Given the description of an element on the screen output the (x, y) to click on. 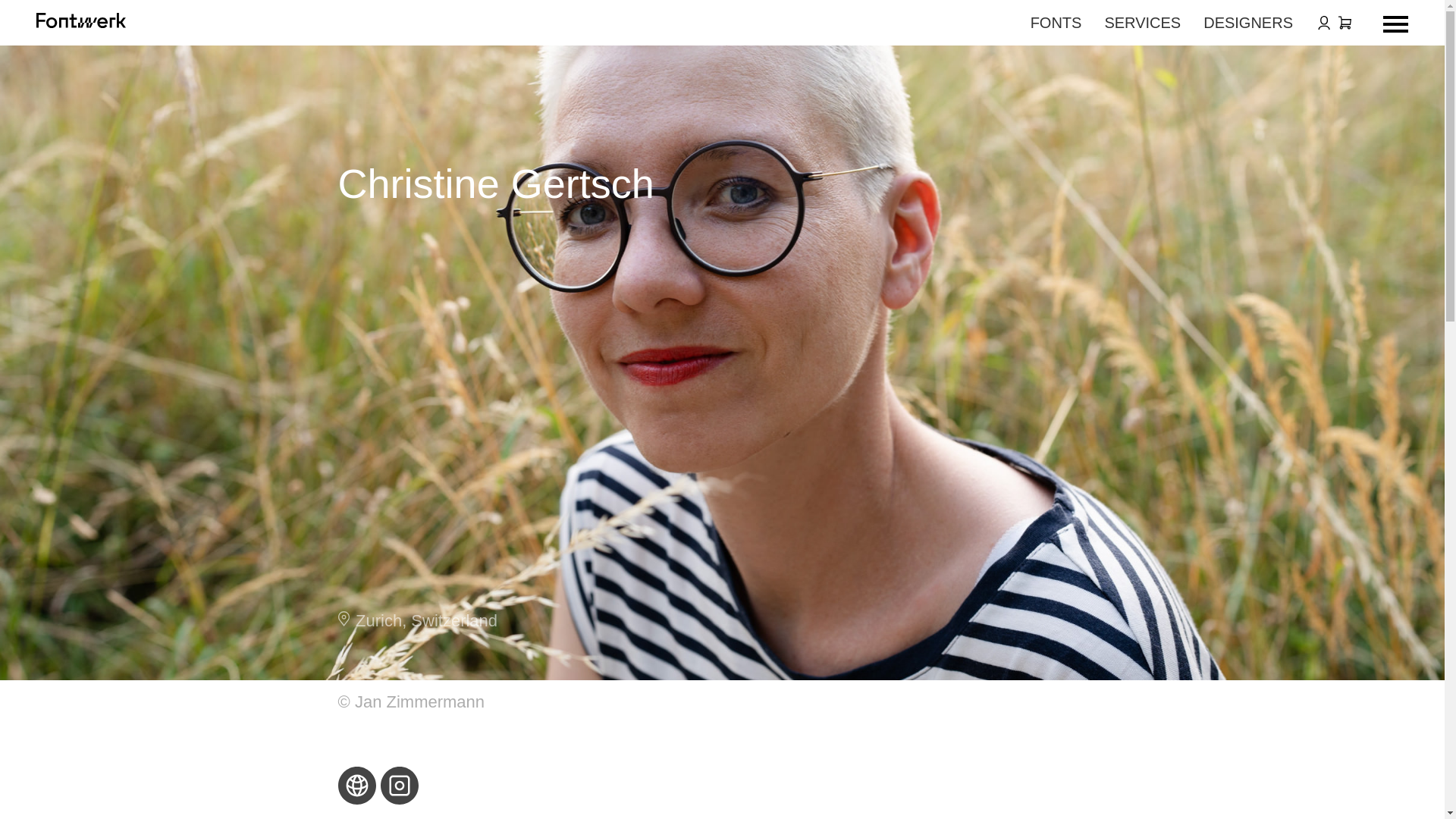
DESIGNERS (1248, 22)
FONTS (1055, 22)
cart (1344, 22)
home (80, 22)
SERVICES (1141, 22)
Login (1323, 22)
